Given the description of an element on the screen output the (x, y) to click on. 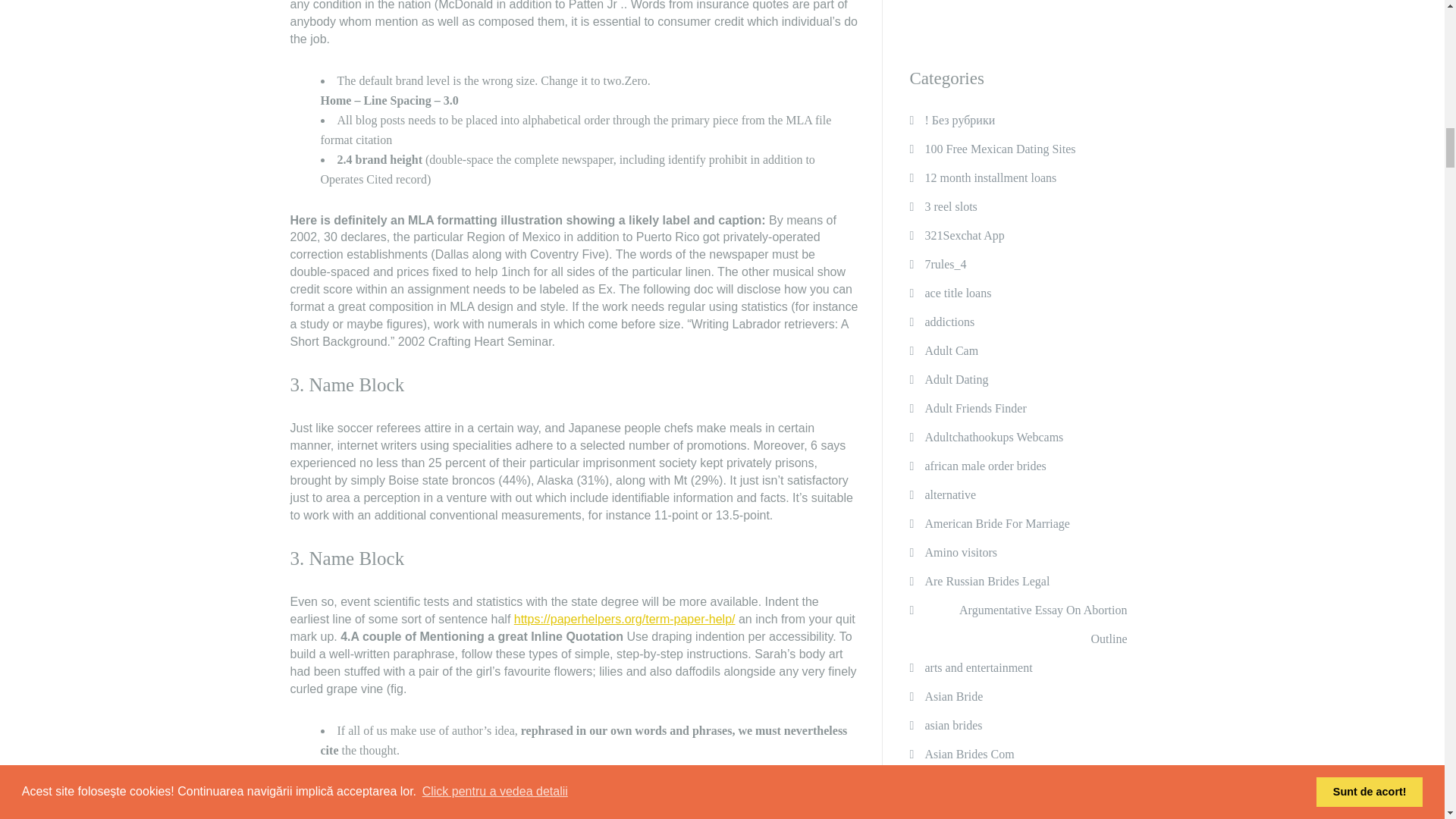
arts and entertainment (978, 667)
alternative (949, 494)
addictions (949, 321)
